Given the description of an element on the screen output the (x, y) to click on. 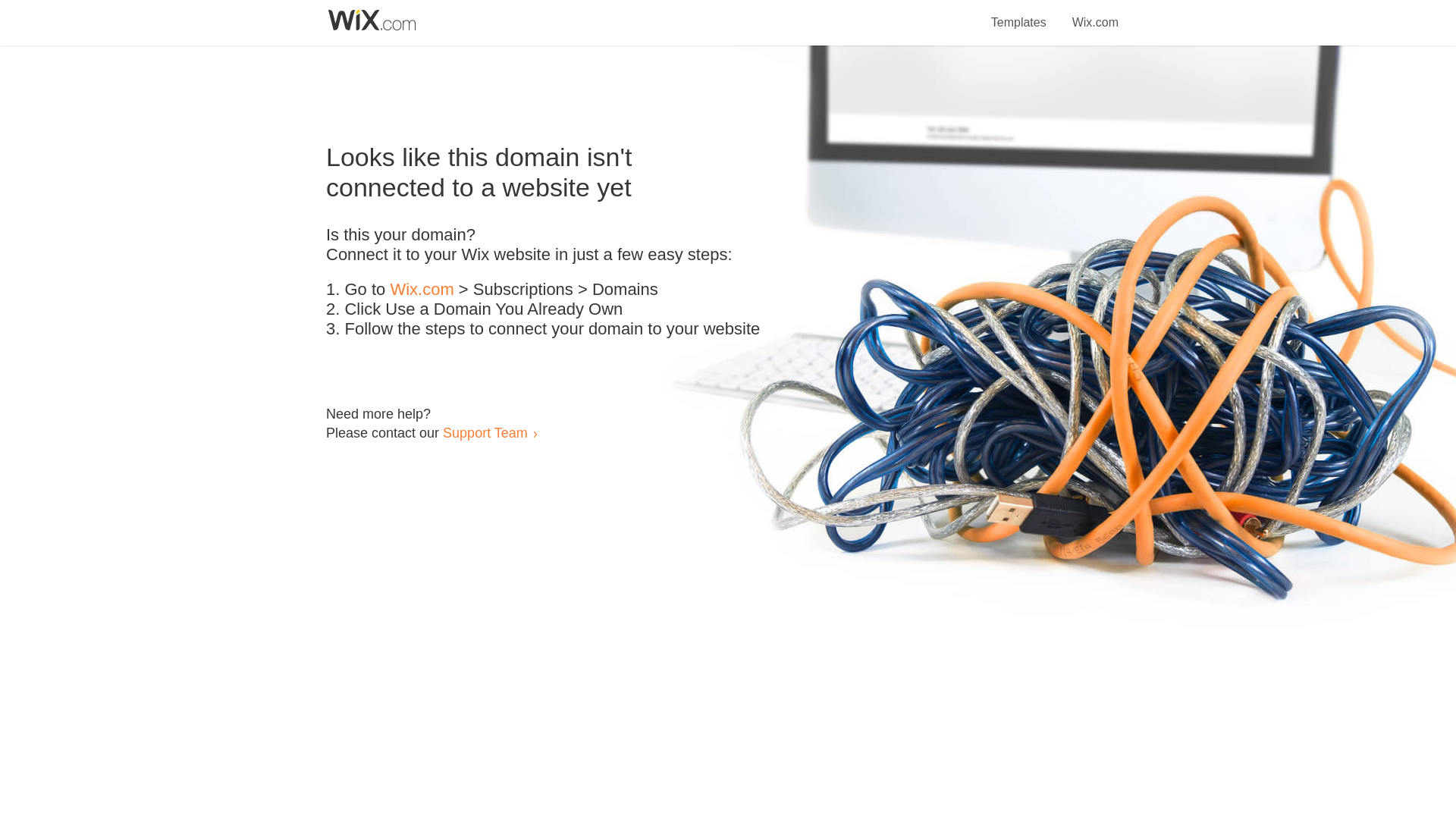
Wix.com (421, 289)
Support Team (484, 432)
Wix.com (1095, 14)
Templates (1018, 14)
